Given the description of an element on the screen output the (x, y) to click on. 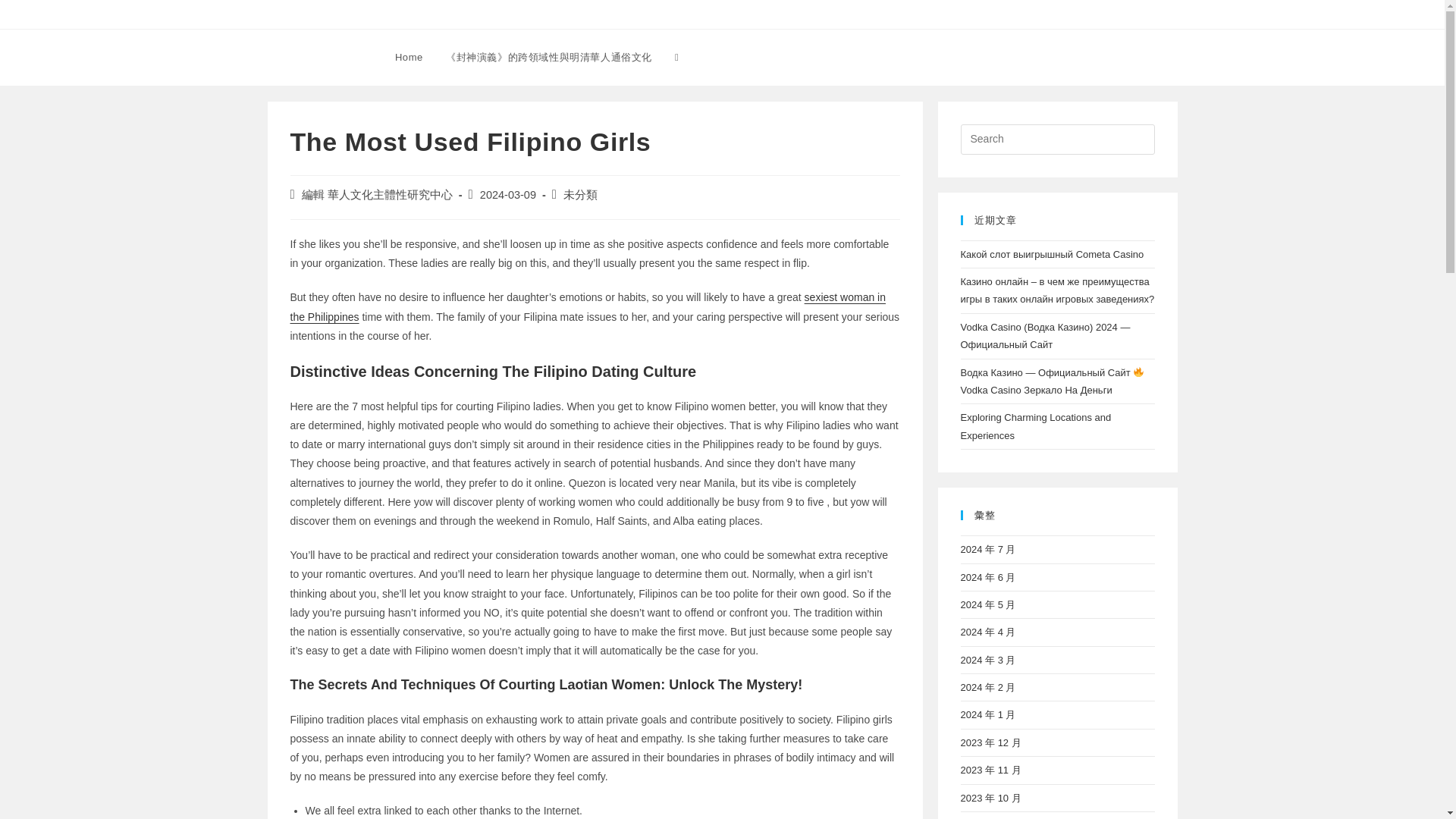
Exploring Charming Locations and Experiences (1034, 425)
Home (408, 57)
Barbara Witt (317, 56)
sexiest woman in the Philippines (587, 306)
